Given the description of an element on the screen output the (x, y) to click on. 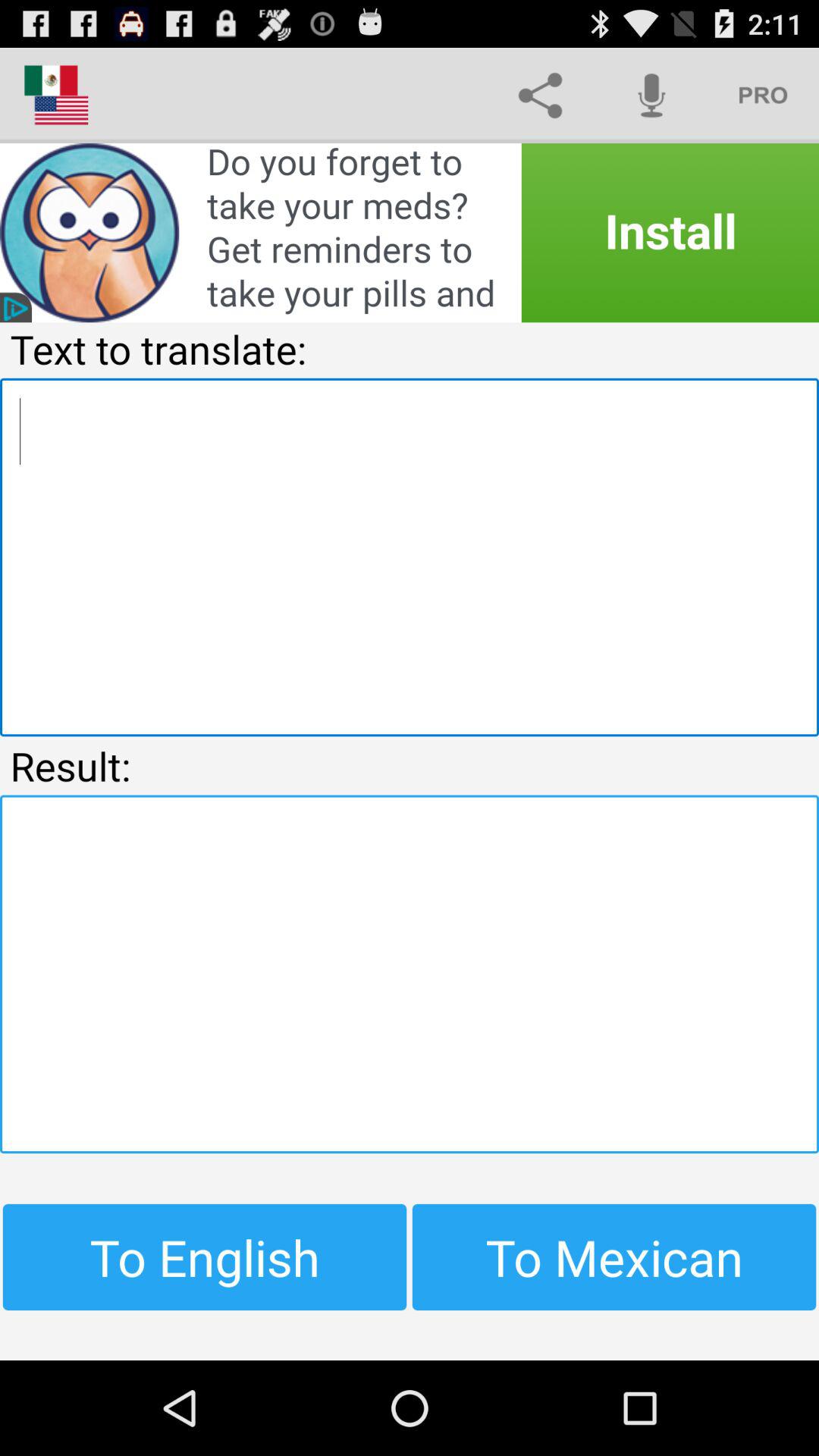
choose item above text to translate: item (409, 232)
